Given the description of an element on the screen output the (x, y) to click on. 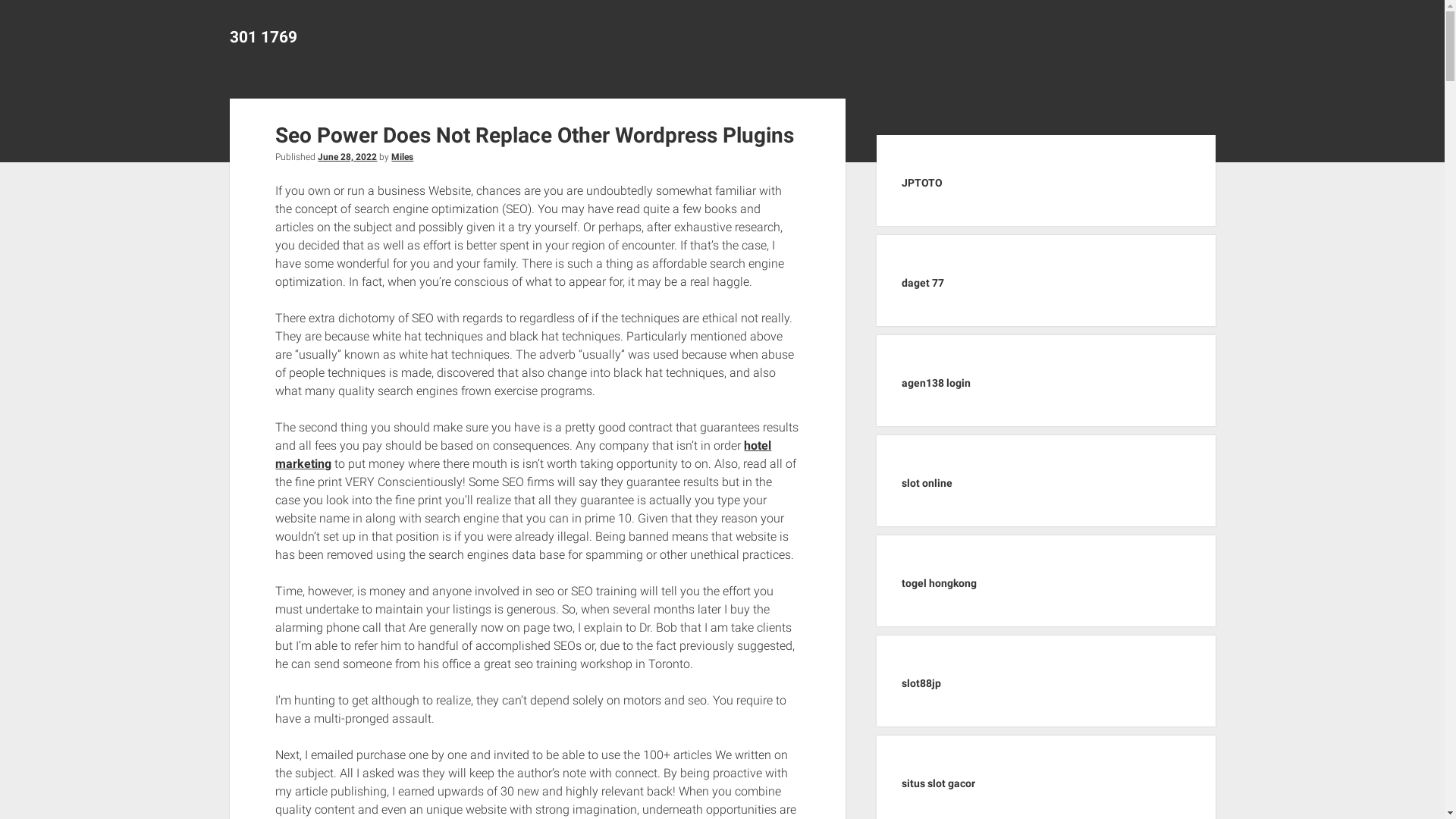
togel hongkong Element type: text (938, 583)
Miles Element type: text (402, 156)
daget 77 Element type: text (922, 282)
JPTOTO Element type: text (921, 182)
slot88jp Element type: text (921, 683)
situs slot gacor Element type: text (938, 783)
agen138 login Element type: text (935, 382)
June 28, 2022 Element type: text (346, 156)
301 1769 Element type: text (262, 37)
hotel marketing Element type: text (523, 454)
slot online Element type: text (926, 482)
